Given the description of an element on the screen output the (x, y) to click on. 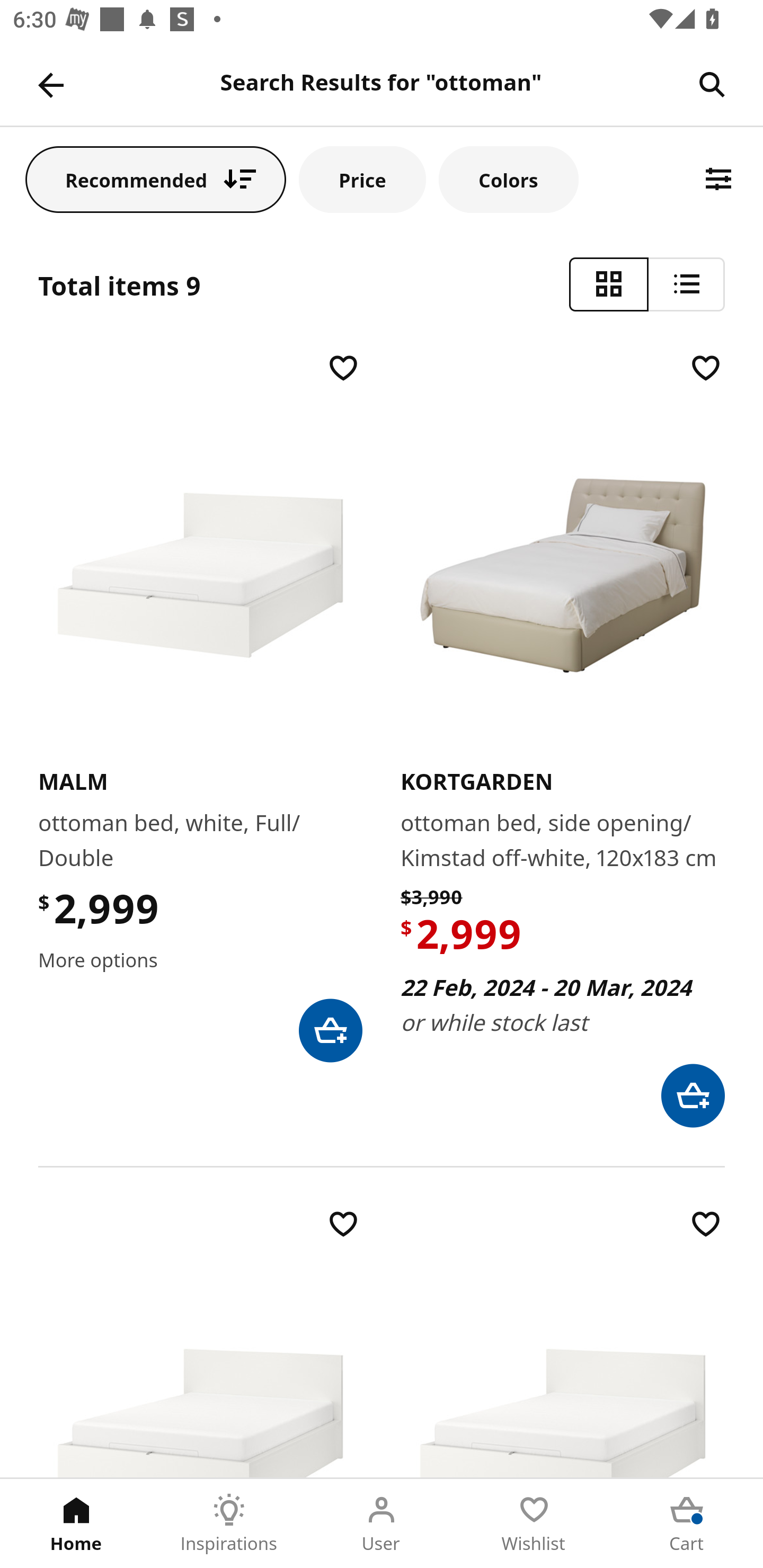
Recommended (155, 179)
Price (362, 179)
Colors (508, 179)
Home
Tab 1 of 5 (76, 1522)
Inspirations
Tab 2 of 5 (228, 1522)
User
Tab 3 of 5 (381, 1522)
Wishlist
Tab 4 of 5 (533, 1522)
Cart
Tab 5 of 5 (686, 1522)
